Given the description of an element on the screen output the (x, y) to click on. 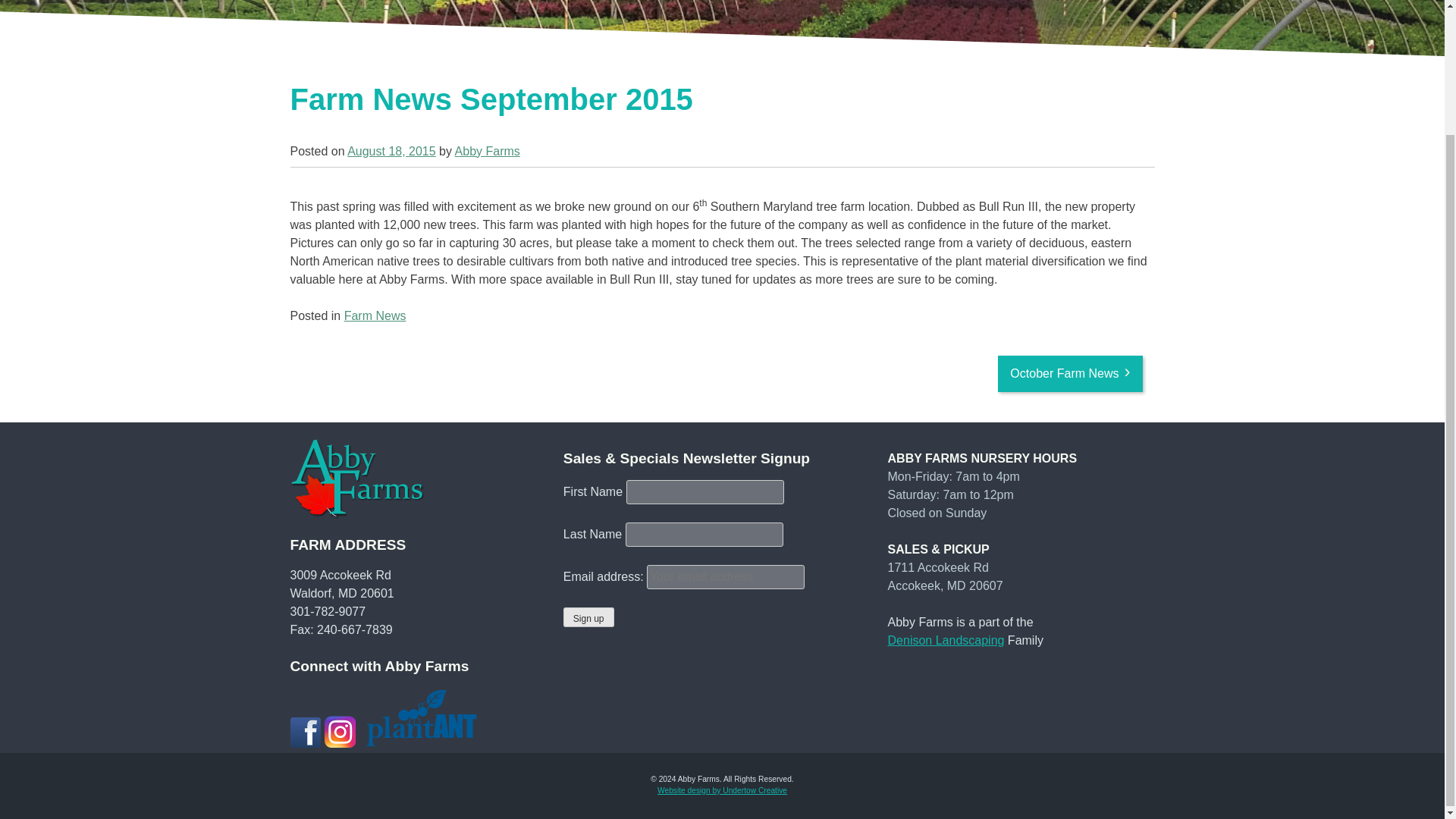
Website design by Undertow Creative (722, 790)
October Farm News (1069, 373)
Sign up (588, 617)
Sign up (588, 617)
Denison Landscaping (946, 640)
Farm News (374, 315)
Abby Farms (486, 151)
August 18, 2015 (391, 151)
